Given the description of an element on the screen output the (x, y) to click on. 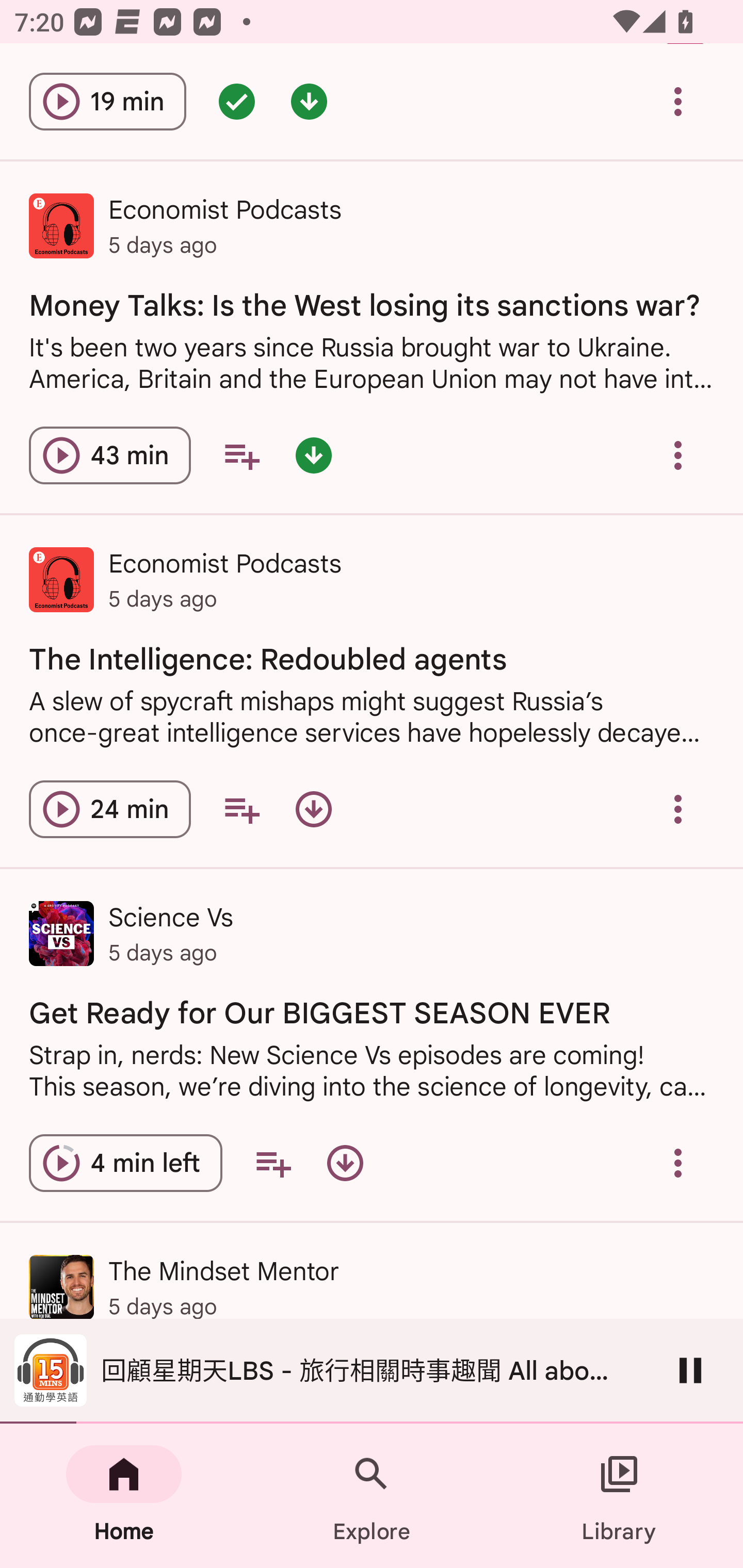
Episode queued - double tap for options (236, 101)
Episode downloaded - double tap for options (308, 101)
Overflow menu (677, 101)
Add to your queue (241, 455)
Episode downloaded - double tap for options (313, 455)
Overflow menu (677, 455)
Add to your queue (241, 808)
Download episode (313, 808)
Overflow menu (677, 808)
Add to your queue (273, 1162)
Download episode (345, 1162)
Overflow menu (677, 1162)
Pause (690, 1370)
Explore (371, 1495)
Library (619, 1495)
